Given the description of an element on the screen output the (x, y) to click on. 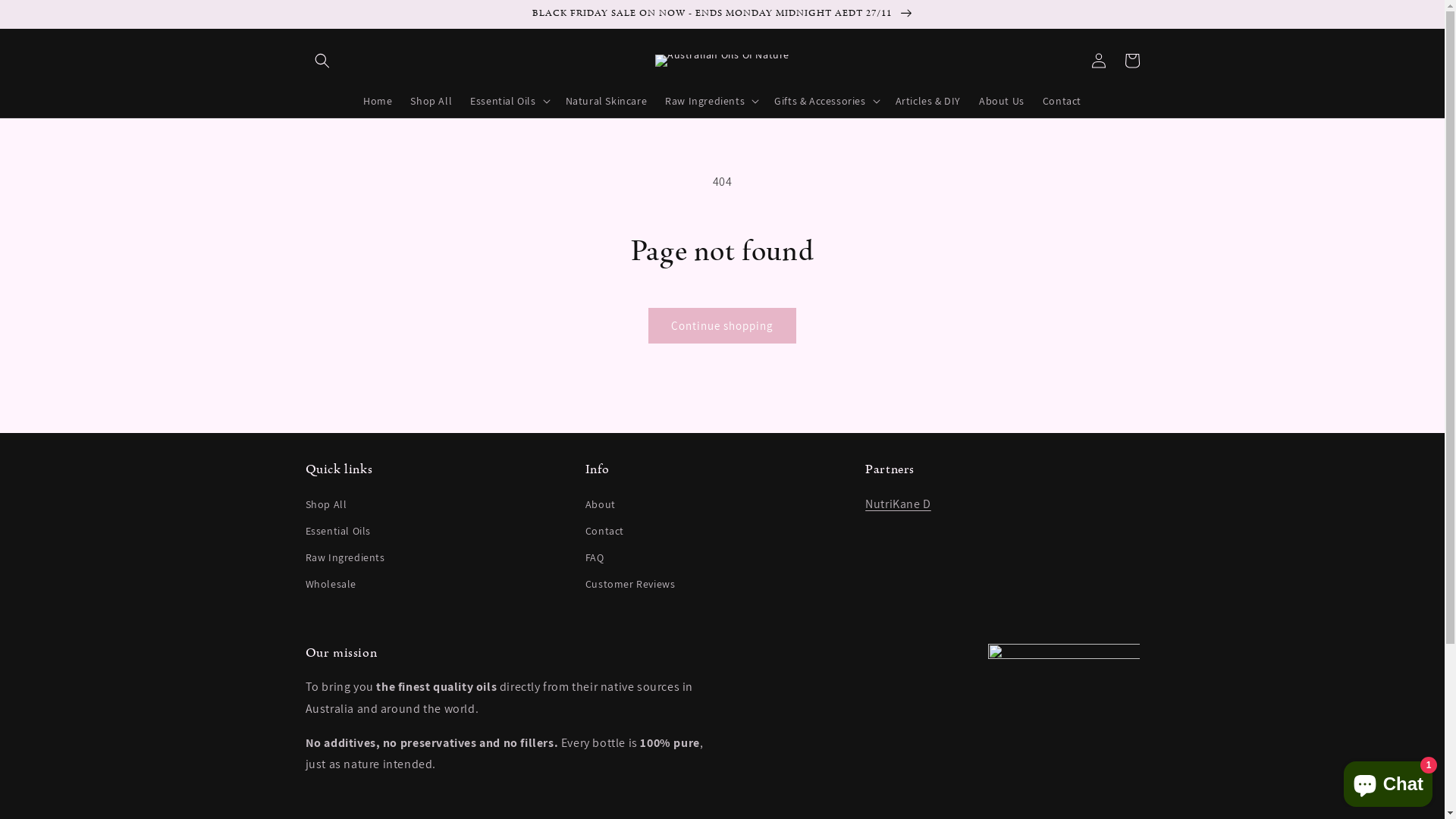
Raw Ingredients Element type: text (344, 557)
Contact Element type: text (1061, 100)
About Us Element type: text (1001, 100)
Shop All Element type: text (431, 100)
Shop All Element type: text (325, 506)
Log in Element type: text (1097, 60)
Articles & DIY Element type: text (927, 100)
Natural Skincare Element type: text (606, 100)
Cart Element type: text (1131, 60)
NutriKane D Element type: text (898, 503)
FAQ Element type: text (594, 557)
Continue shopping Element type: text (722, 325)
About Element type: text (600, 506)
Wholesale Element type: text (329, 584)
Essential Oils Element type: text (337, 530)
BLACK FRIDAY SALE ON NOW - ENDS MONDAY MIDNIGHT AEDT 27/11 Element type: text (722, 14)
Customer Reviews Element type: text (630, 584)
Home Element type: text (377, 100)
Contact Element type: text (604, 530)
Shopify online store chat Element type: hover (1388, 780)
